Given the description of an element on the screen output the (x, y) to click on. 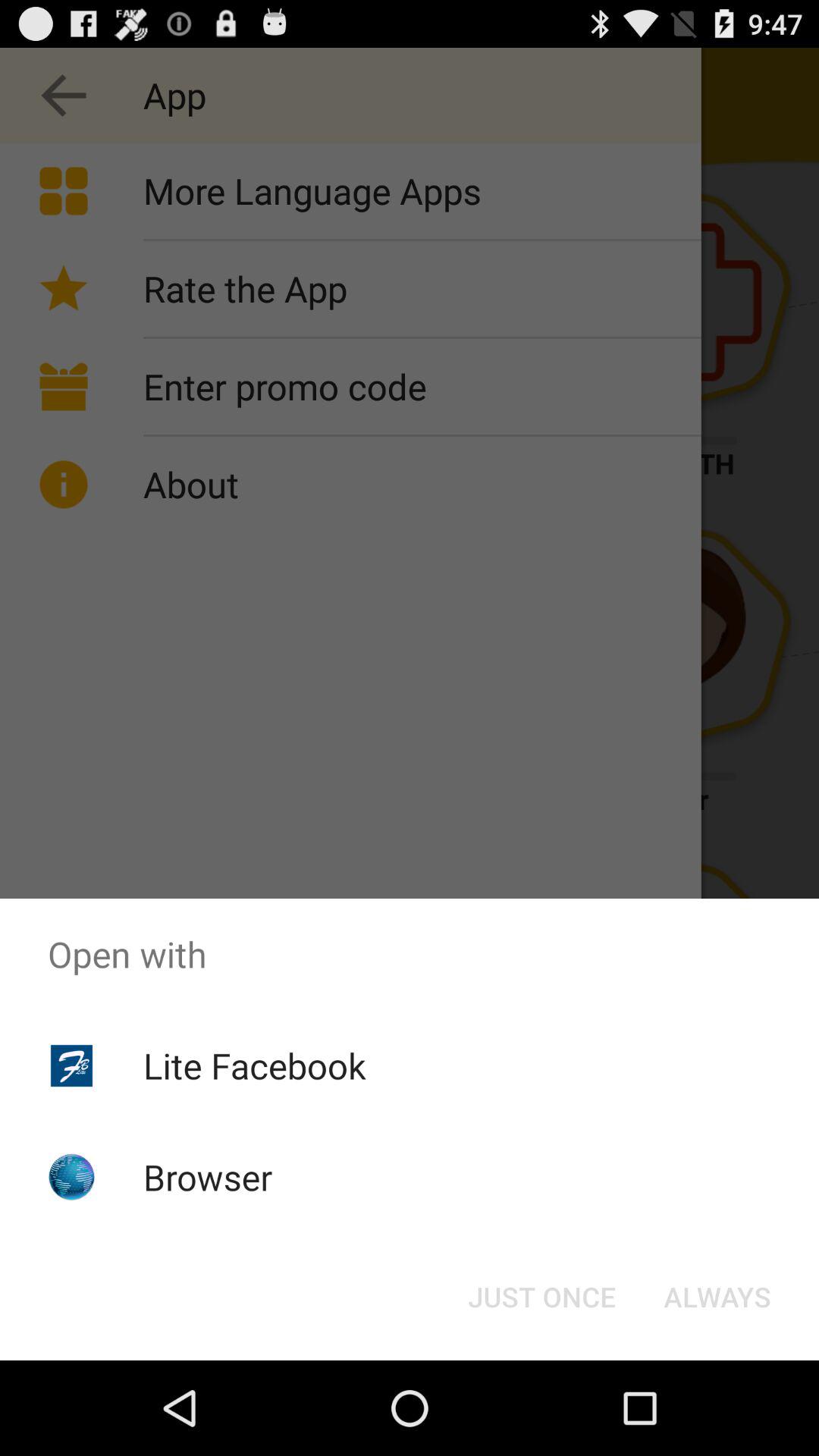
turn on icon below the open with item (254, 1065)
